Given the description of an element on the screen output the (x, y) to click on. 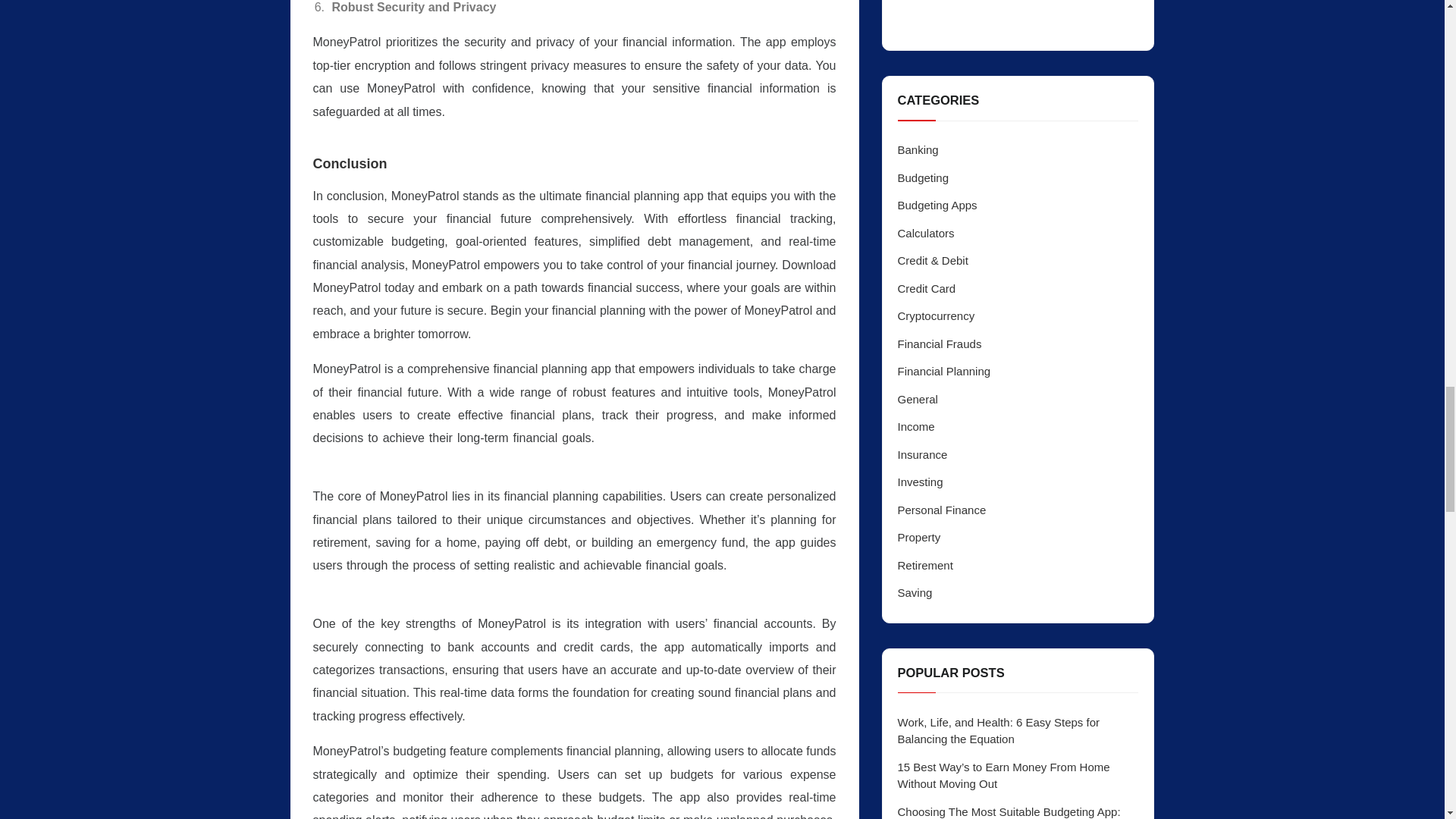
MoneyPatrol (478, 111)
financial planning app (404, 589)
MoneyPatrol (498, 716)
MoneyPatrol (760, 565)
financial planning app (645, 111)
financial planning app (672, 334)
MoneyPatrol (504, 334)
financial planning app (574, 449)
MoneyPatrol (628, 438)
